Given the description of an element on the screen output the (x, y) to click on. 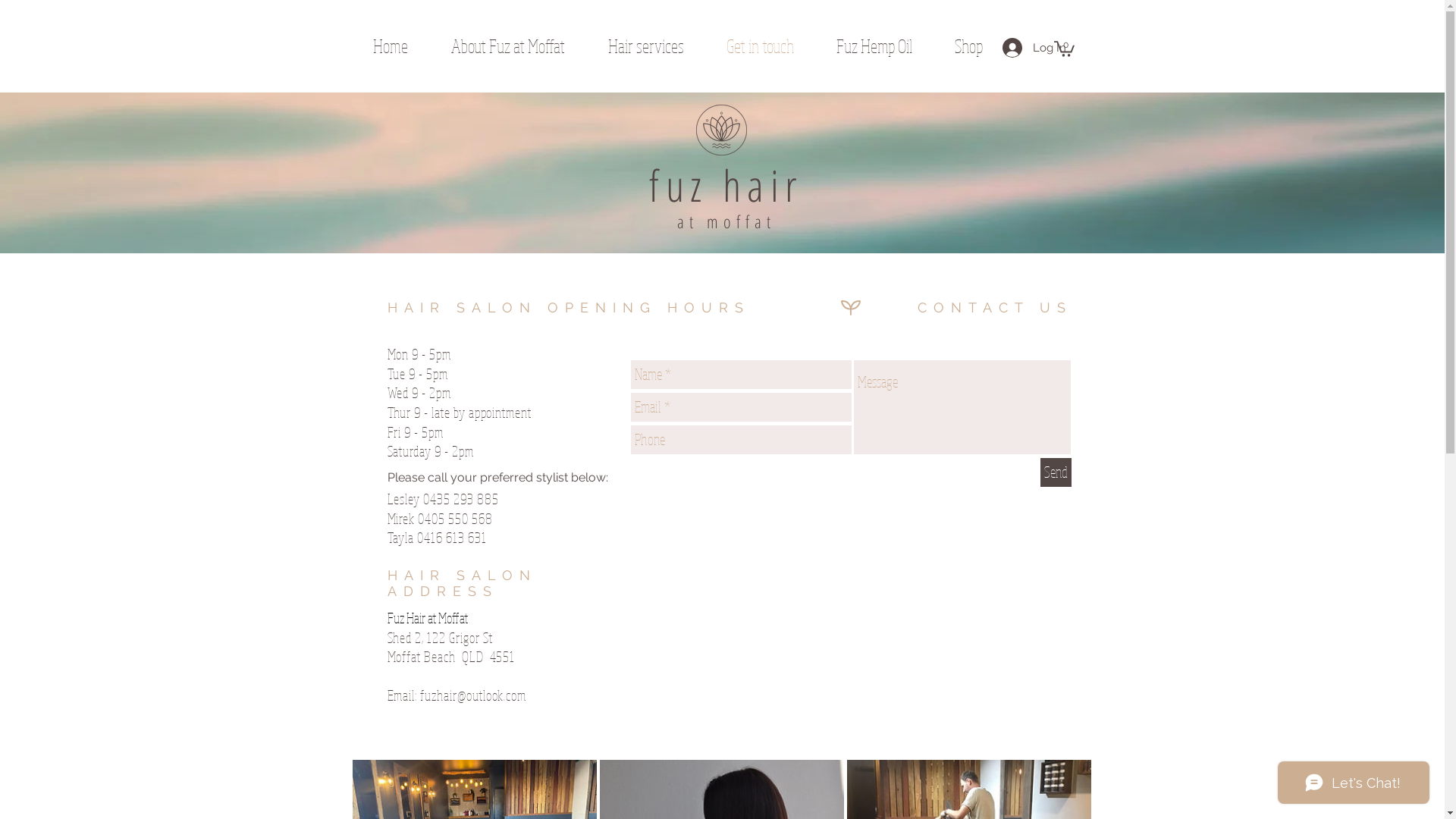
Shop Element type: text (981, 45)
Home Element type: text (404, 45)
fuzhair@outlook.com Element type: text (473, 695)
Send Element type: text (1055, 472)
Get in touch Element type: text (773, 45)
at moffat Element type: text (726, 221)
0 Element type: text (1064, 47)
About Fuz at Moffat Element type: text (520, 45)
Google Maps Element type: hover (847, 580)
Hair services Element type: text (659, 45)
fuz hair Element type: text (726, 194)
Log In Element type: text (1022, 47)
Fuz Hemp Oil Element type: text (887, 45)
